Given the description of an element on the screen output the (x, y) to click on. 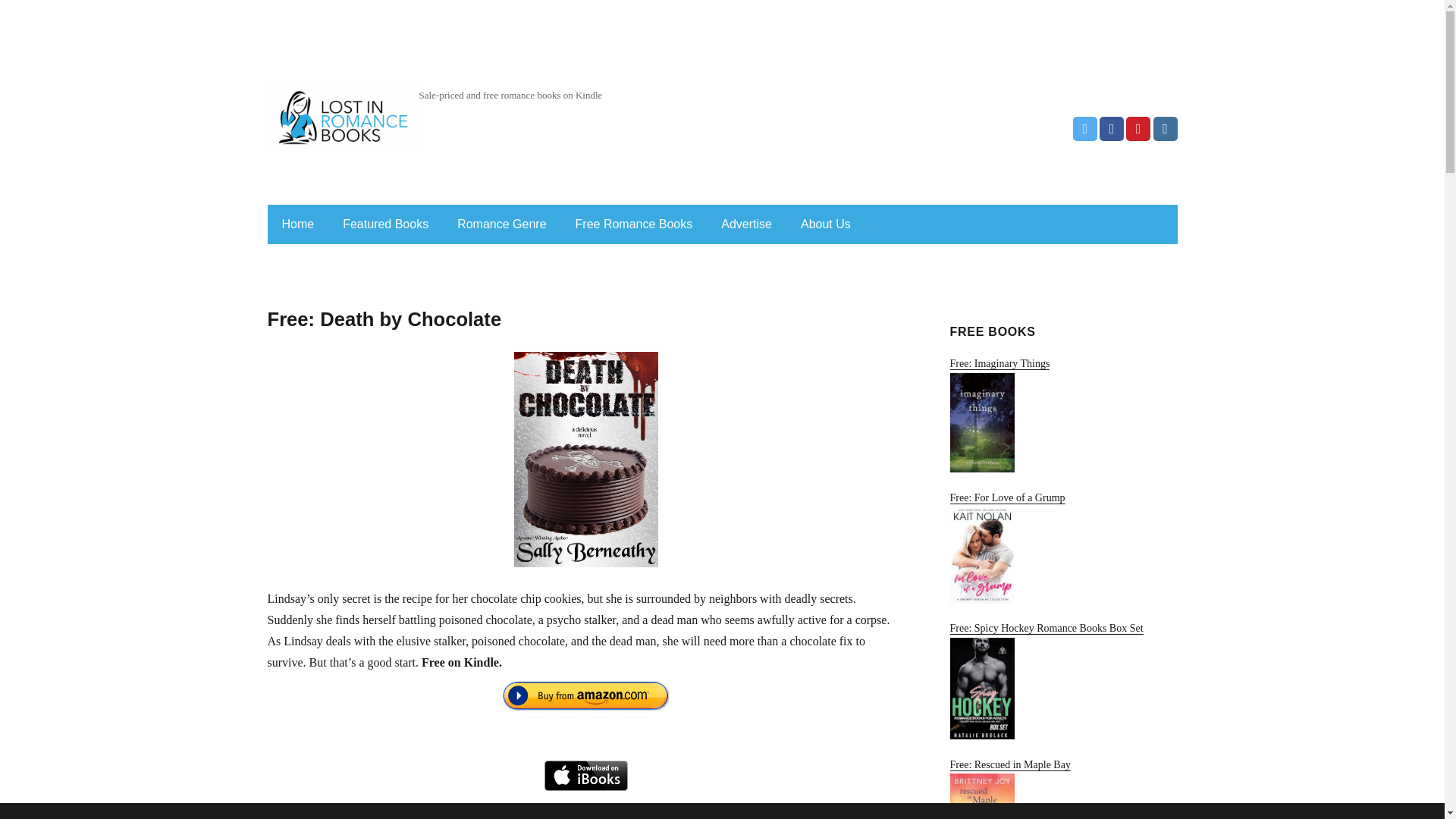
Featured Books (385, 224)
Free Romance Books (633, 224)
Free: For Love of a Grump (1062, 547)
About Us (825, 224)
Pinterest (1137, 128)
Instagram (1164, 128)
Free: Rescued in Maple Bay (1062, 789)
Twitter (1085, 128)
Advertise (746, 224)
Free: Spicy Hockey Romance Books Box Set (1062, 680)
